Given the description of an element on the screen output the (x, y) to click on. 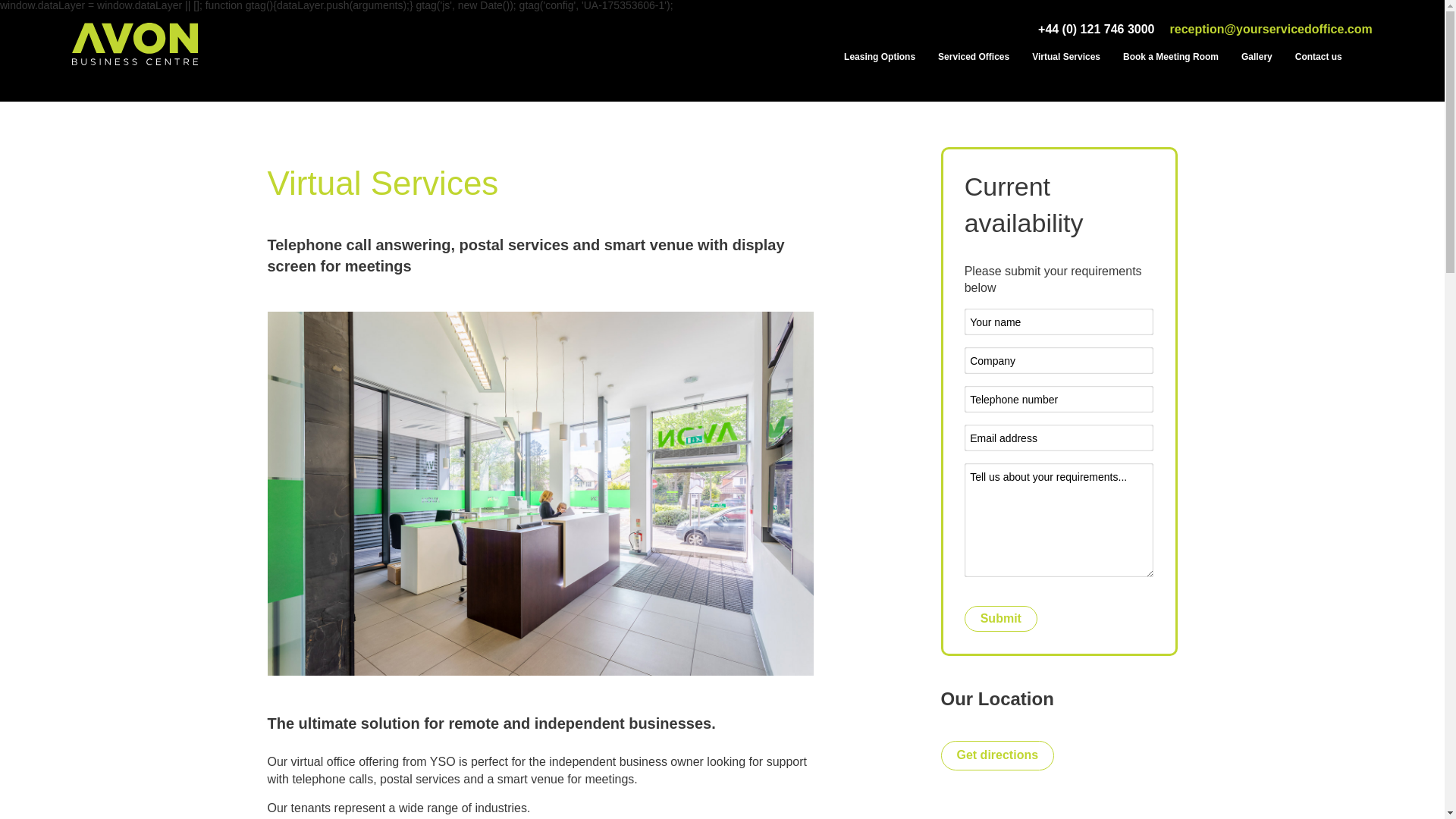
Gallery (1256, 56)
Serviced Offices (973, 56)
Submit (999, 618)
Contact us (1318, 56)
Get directions (997, 754)
Book a Meeting Room (1170, 56)
Leasing Options (879, 56)
Virtual Services (1066, 56)
Submit (999, 618)
